Given the description of an element on the screen output the (x, y) to click on. 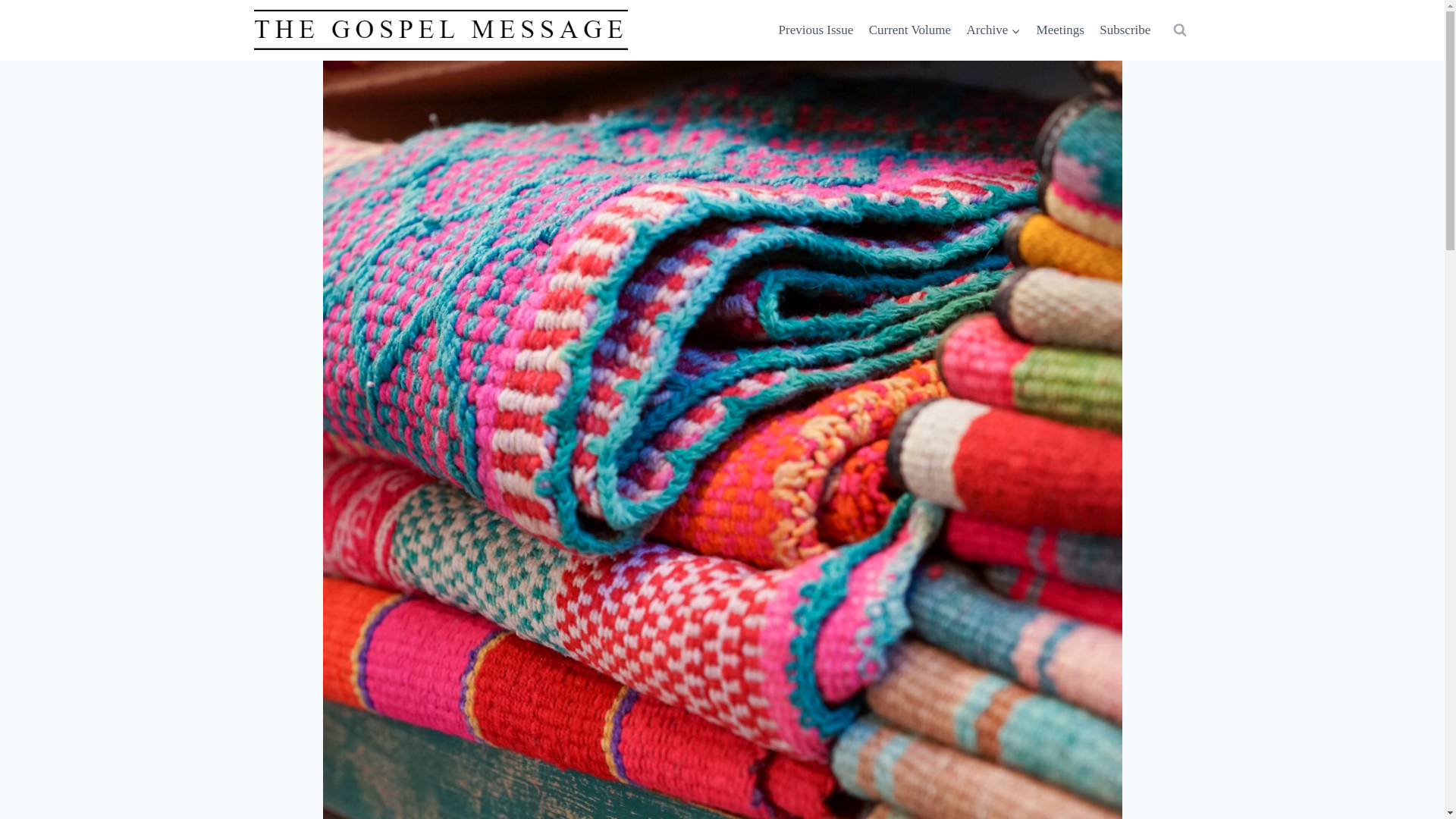
Subscribe (1124, 30)
Meetings (1059, 30)
Previous Issue (815, 30)
Current Volume (909, 30)
Archive (992, 30)
